Given the description of an element on the screen output the (x, y) to click on. 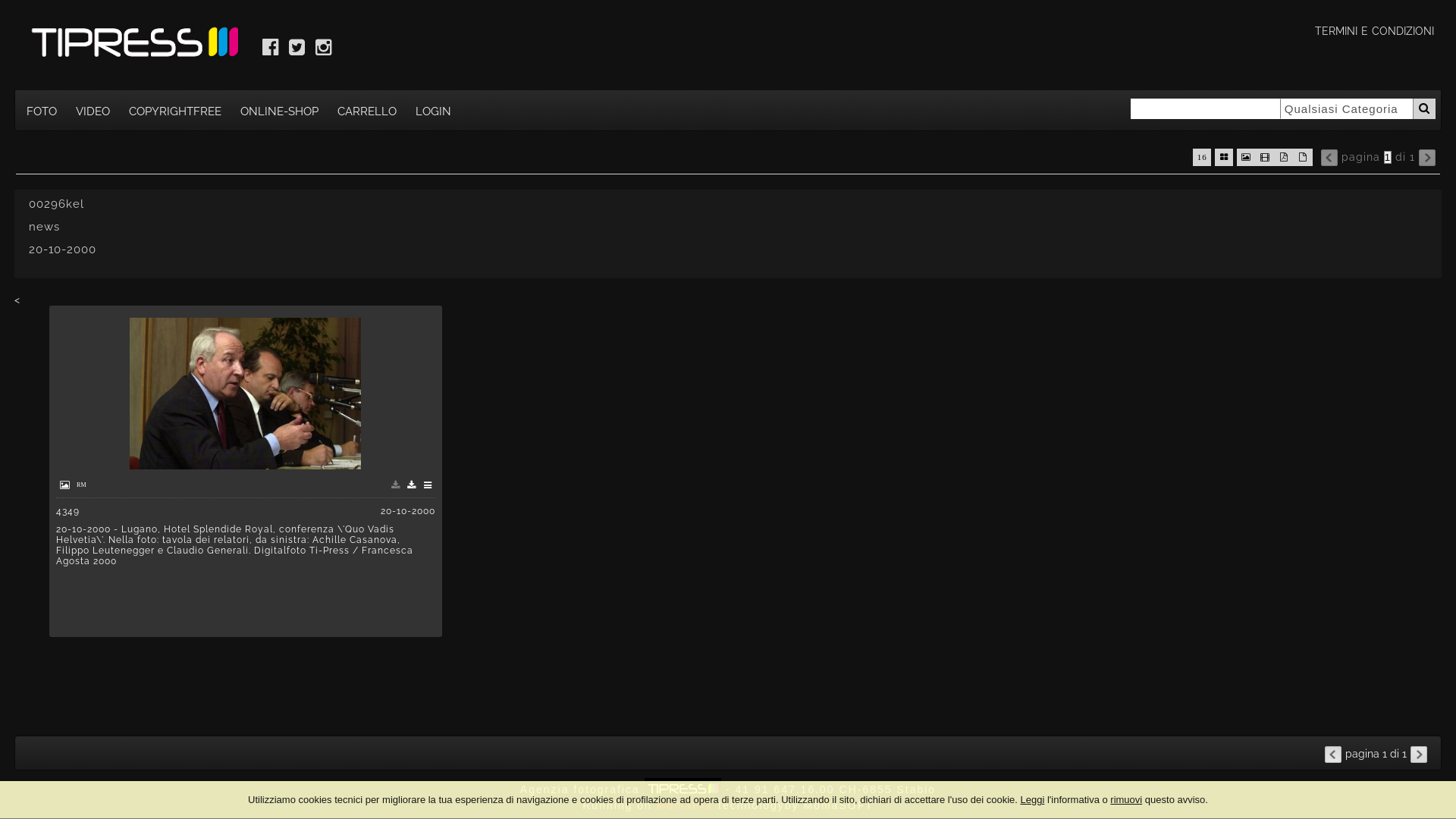
00296kel Element type: hover (245, 393)
scarica alta risoluzione Element type: hover (411, 484)
rimuovi Element type: text (1126, 799)
CERCA Element type: text (1424, 108)
Leggi Element type: text (1031, 799)
foto Element type: hover (64, 484)
scarica bassa risoluzione Element type: hover (395, 484)
Tipress Element type: text (127, 45)
licenza: Rights Managed Element type: hover (81, 484)
COPYRIGHTFREE Element type: text (174, 111)
